Given the description of an element on the screen output the (x, y) to click on. 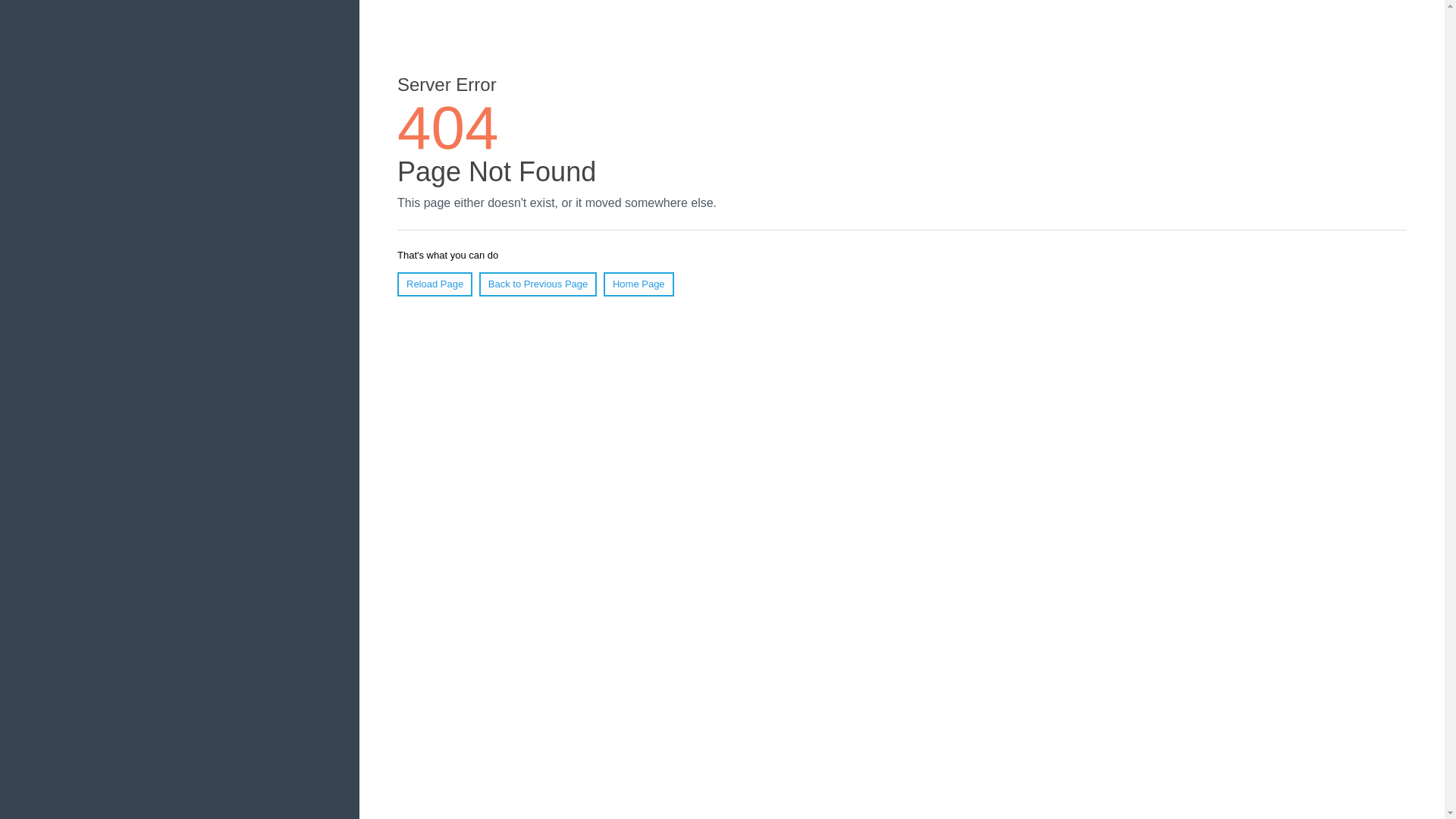
Home Page Element type: text (638, 284)
Back to Previous Page Element type: text (538, 284)
Reload Page Element type: text (434, 284)
